Given the description of an element on the screen output the (x, y) to click on. 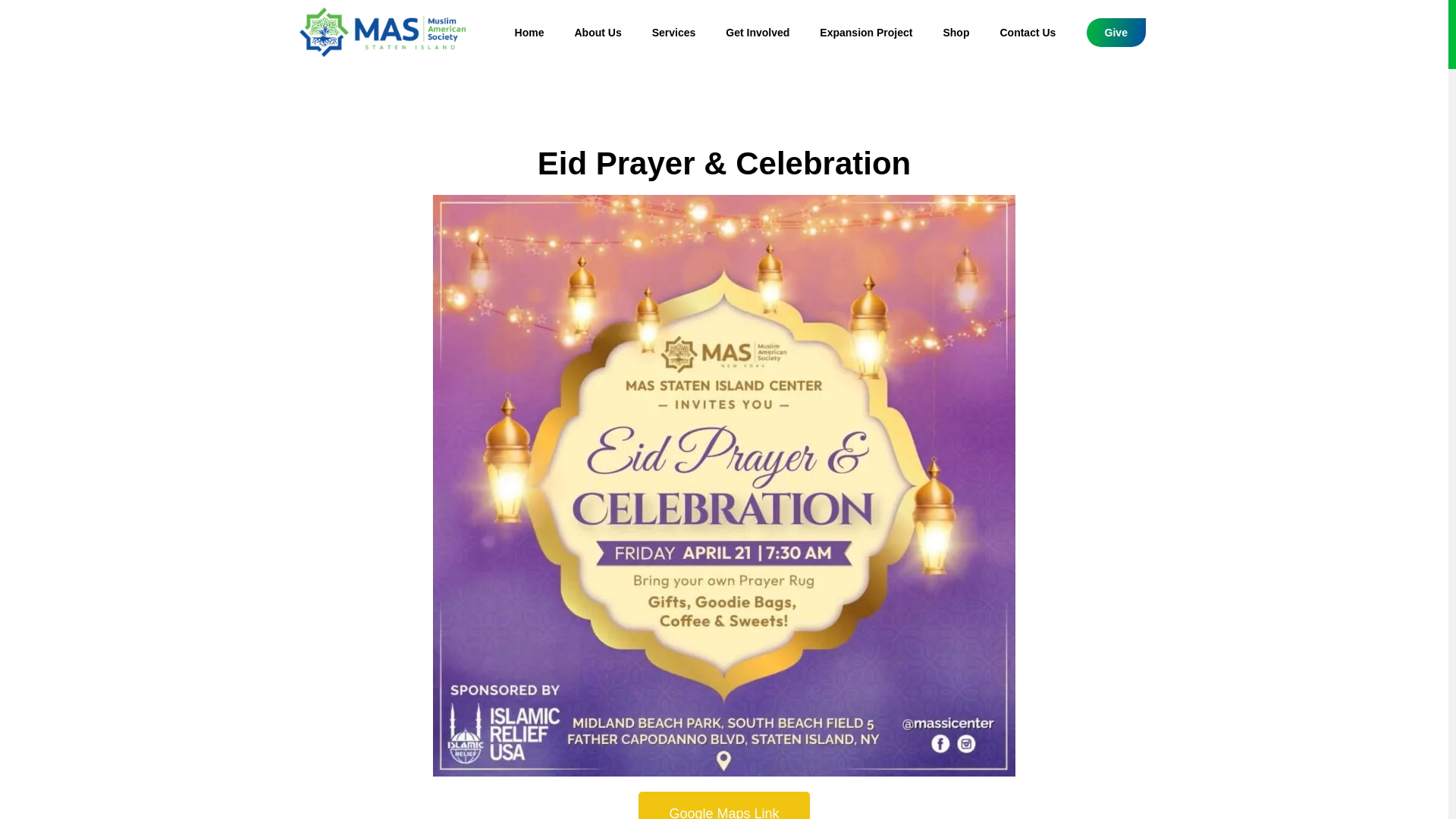
Services (674, 32)
Contact Us (1027, 32)
Shop (955, 32)
Get Involved (757, 32)
Home (529, 32)
About Us (597, 32)
Expansion Project (866, 32)
